Given the description of an element on the screen output the (x, y) to click on. 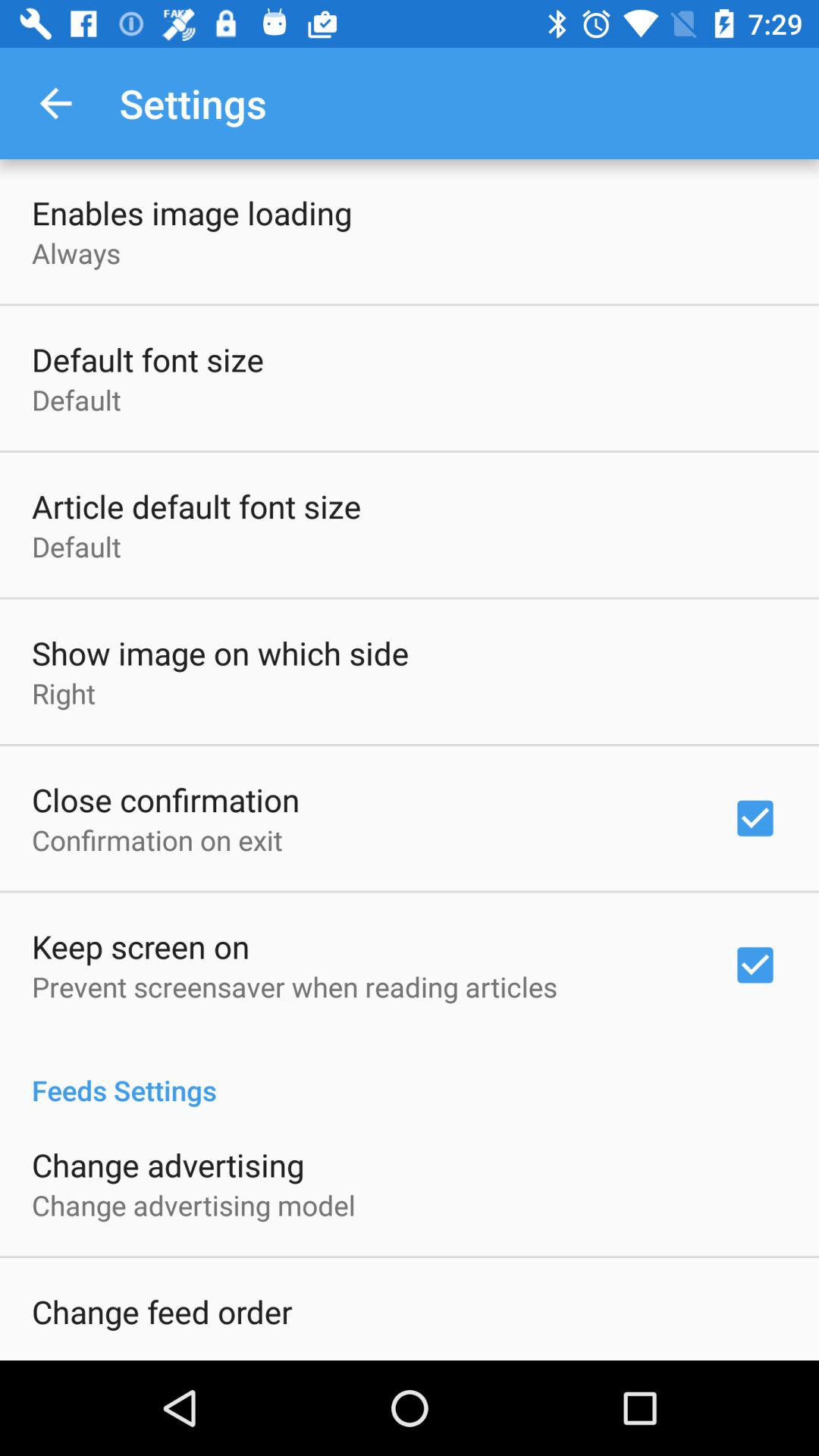
tap icon below show image on item (63, 693)
